Given the description of an element on the screen output the (x, y) to click on. 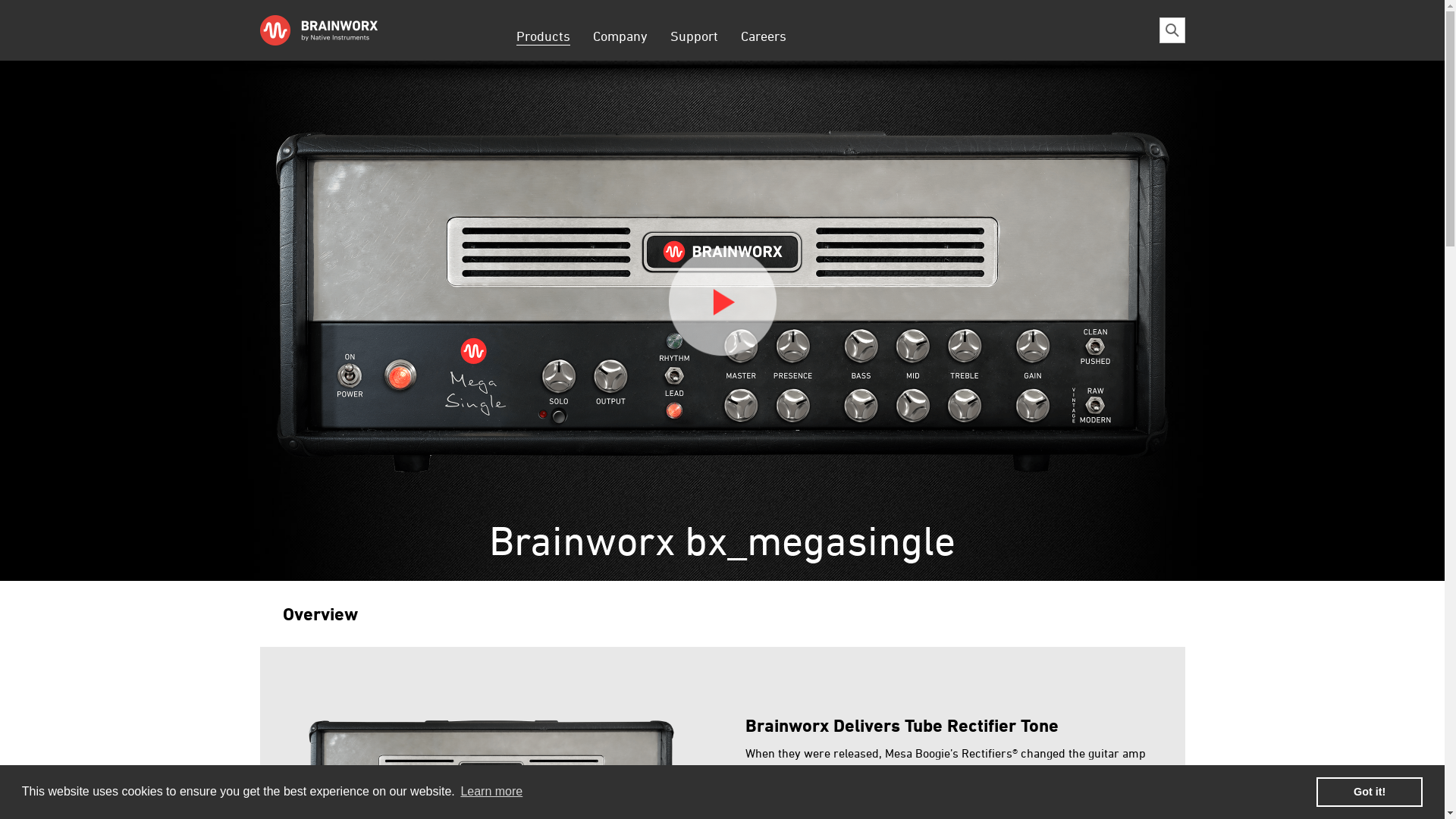
Brainworx Element type: hover (341, 30)
Company Element type: text (619, 34)
Got it! Element type: text (1369, 791)
Play video Element type: text (722, 301)
Products Element type: text (543, 34)
Learn more Element type: text (491, 791)
  Element type: text (796, 25)
search.html Element type: hover (1171, 29)
Support Element type: text (693, 34)
Search Element type: text (892, 27)
Skip navigation Element type: text (503, 25)
Careers Element type: text (763, 34)
